Given the description of an element on the screen output the (x, y) to click on. 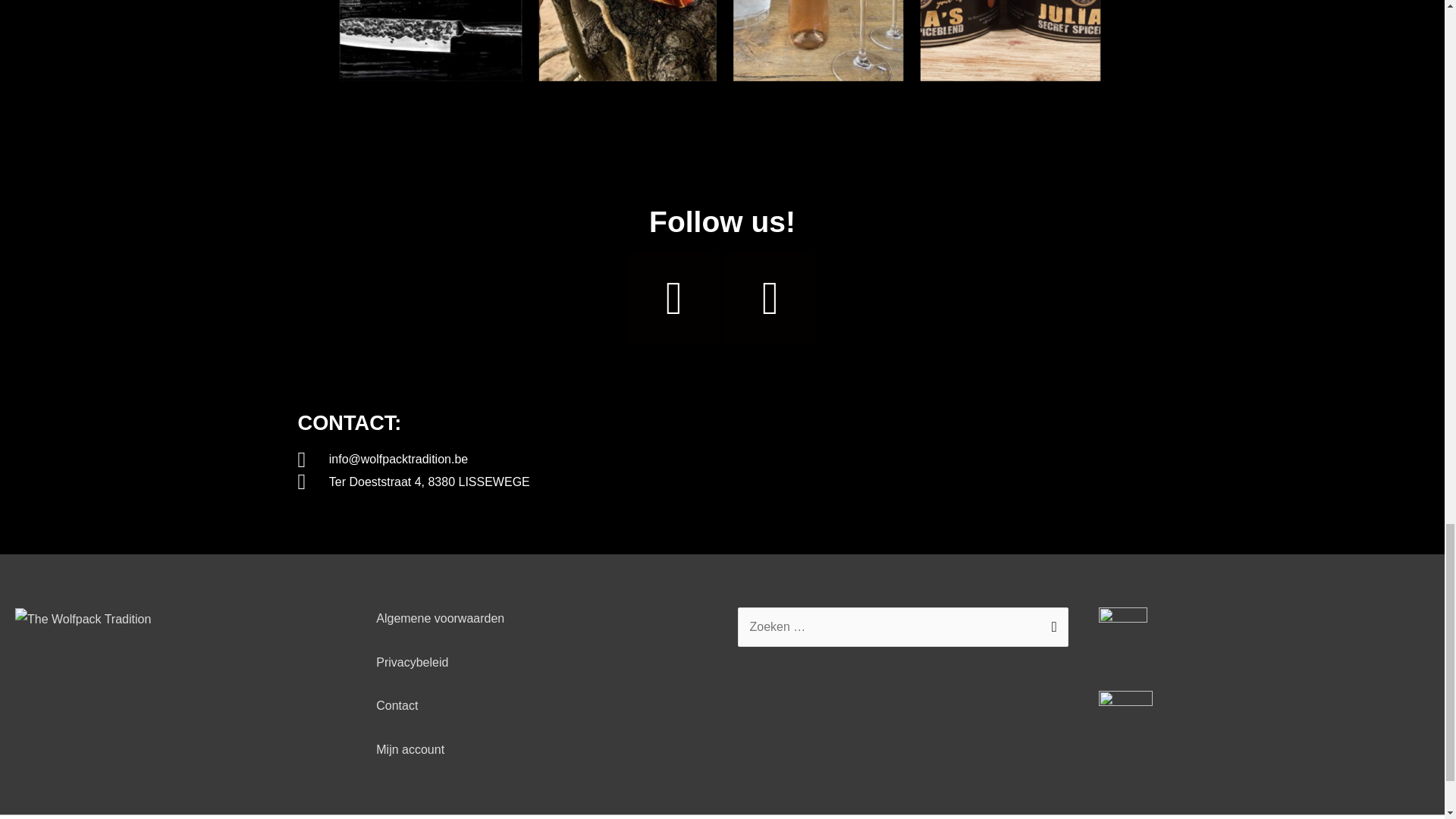
Privacybeleid (411, 662)
Contact (396, 705)
Mijn account (409, 748)
Algemene voorwaarden (439, 617)
